Given the description of an element on the screen output the (x, y) to click on. 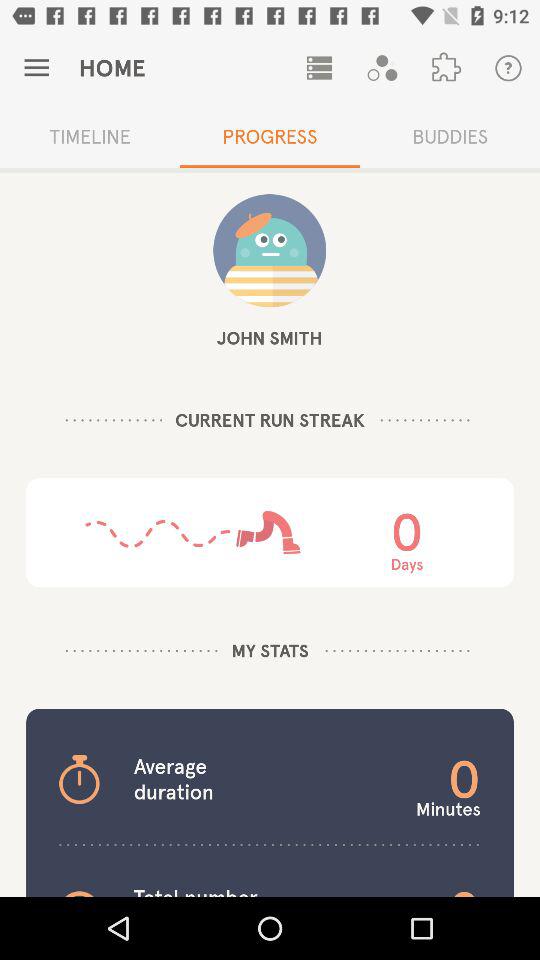
select the image below the tab progress on the web page (269, 250)
click on the first button which is at top right corner of the page (508, 68)
click on puzzle icon above buddies (445, 68)
